Given the description of an element on the screen output the (x, y) to click on. 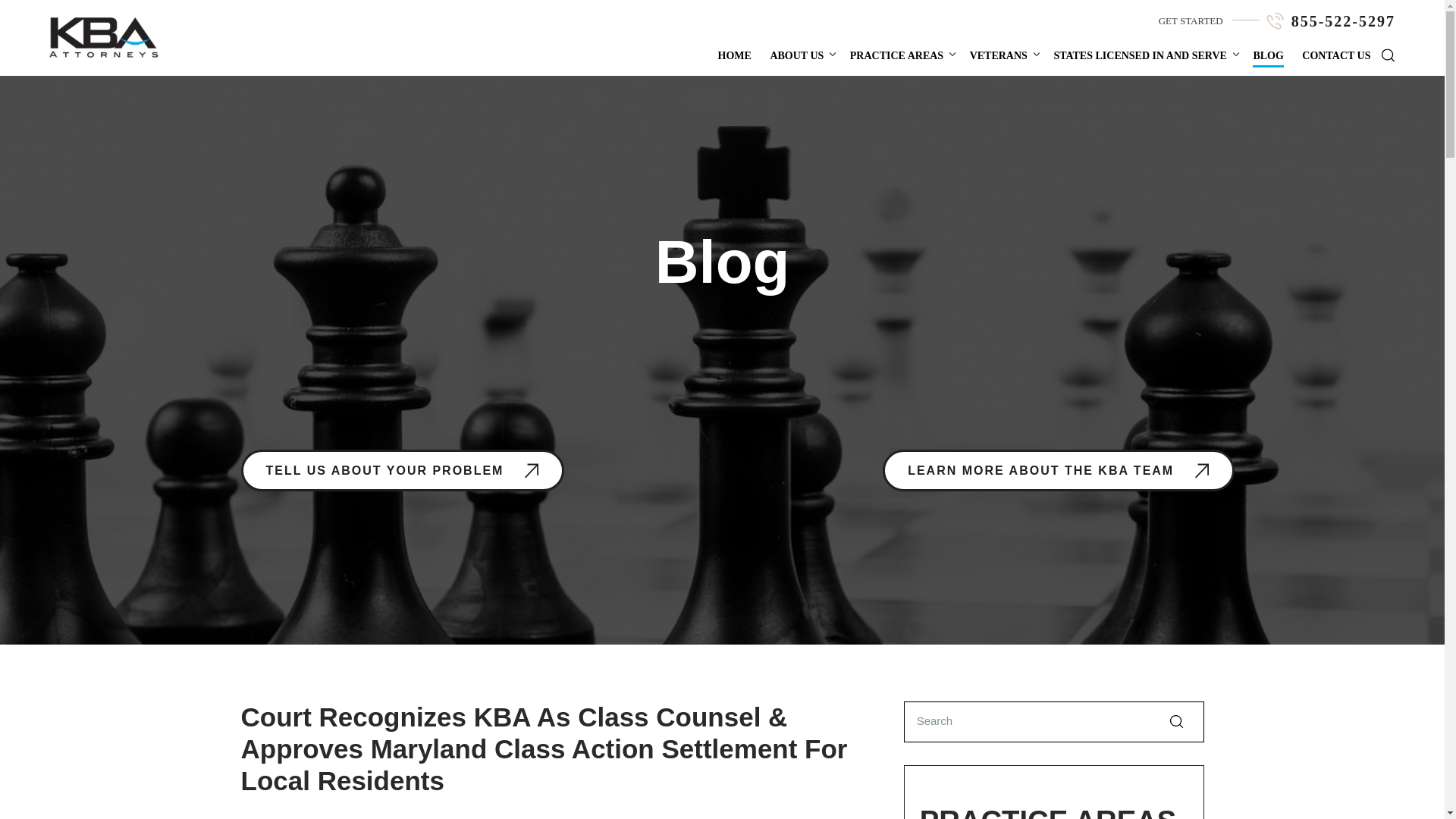
855-522-5297 (1342, 21)
PRACTICE AREAS (896, 55)
HOME (734, 55)
ABOUT US (797, 55)
